Given the description of an element on the screen output the (x, y) to click on. 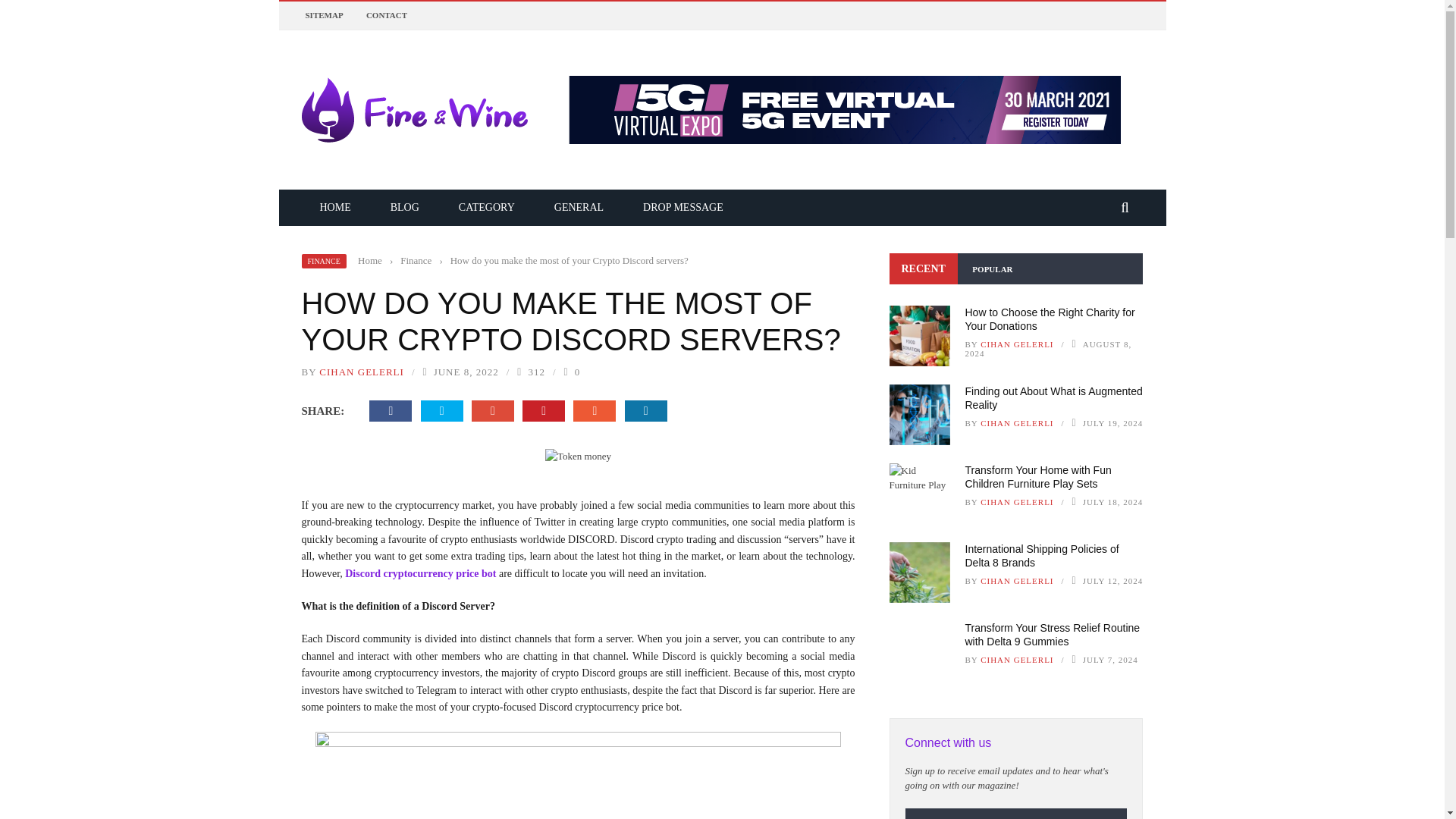
CIHAN GELERLI (361, 370)
BLOG (405, 206)
CATEGORY (486, 206)
Enter your e-mail address (997, 813)
Home (369, 260)
Discord cryptocurrency price bot (420, 573)
Finance (415, 260)
CONTACT (386, 14)
FINANCE (323, 260)
DROP MESSAGE (682, 206)
